Given the description of an element on the screen output the (x, y) to click on. 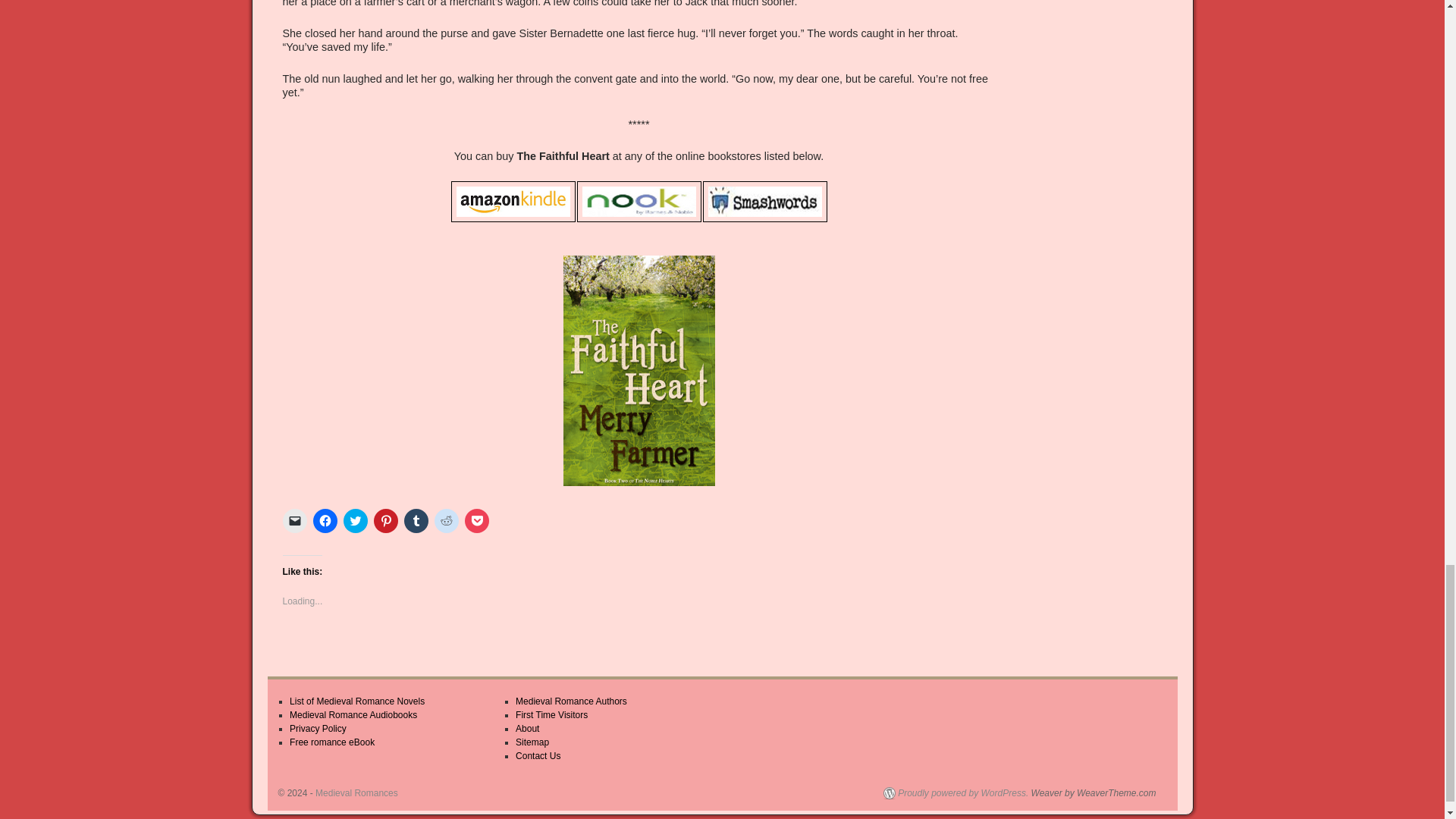
Buy The Faithful Heart on Amazon (512, 200)
Click to email a link to a friend (293, 520)
Medieval Romances (356, 792)
Click to share on Facebook (324, 520)
Click to share on Pinterest (384, 520)
Buy The Faithful Heart on Smashwords (764, 200)
Click to share on Twitter (354, 520)
Click to share on Reddit (445, 520)
Click to share on Pocket (475, 520)
Click to share on Tumblr (415, 520)
